Given the description of an element on the screen output the (x, y) to click on. 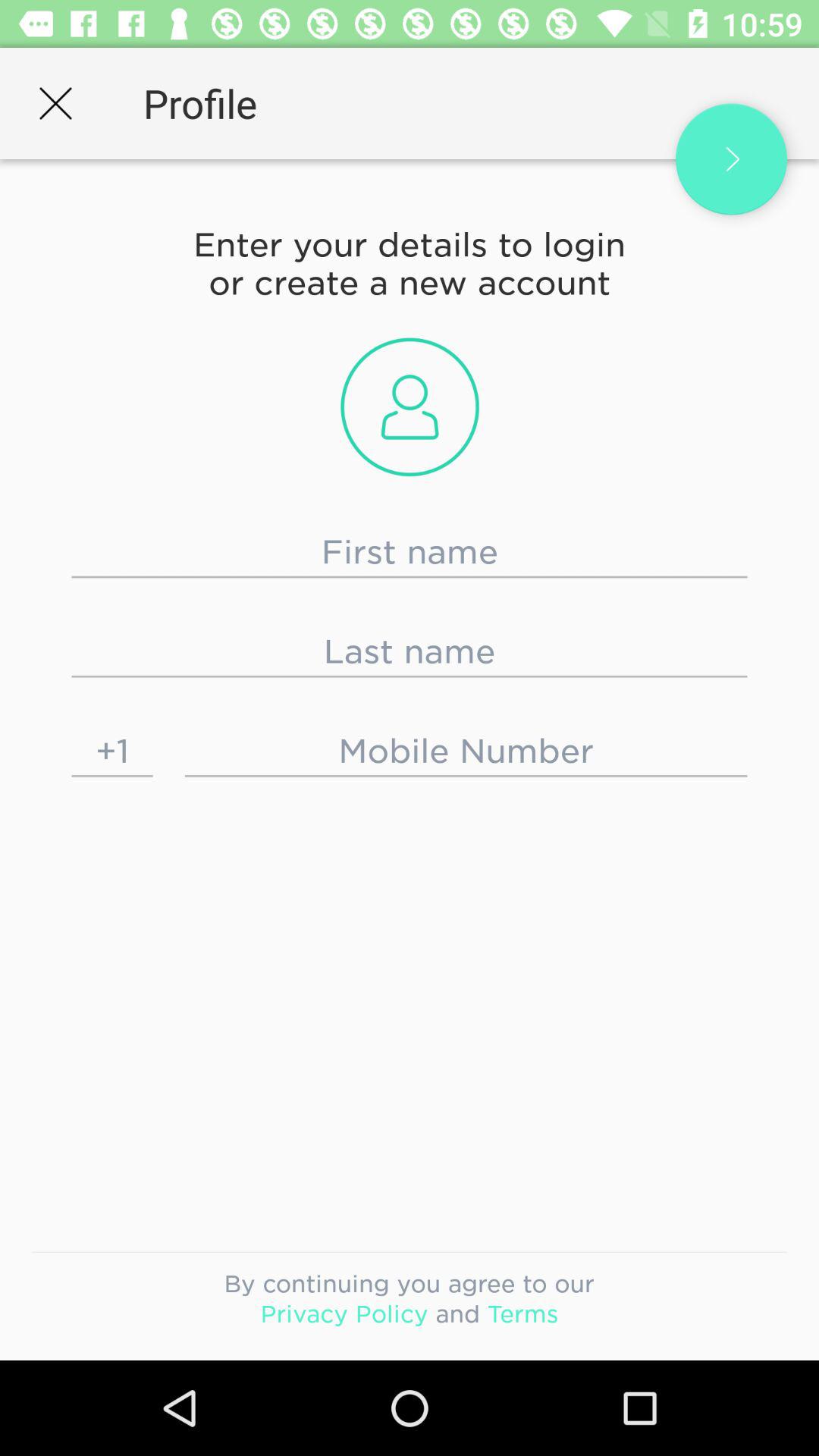
enter first name (409, 551)
